Given the description of an element on the screen output the (x, y) to click on. 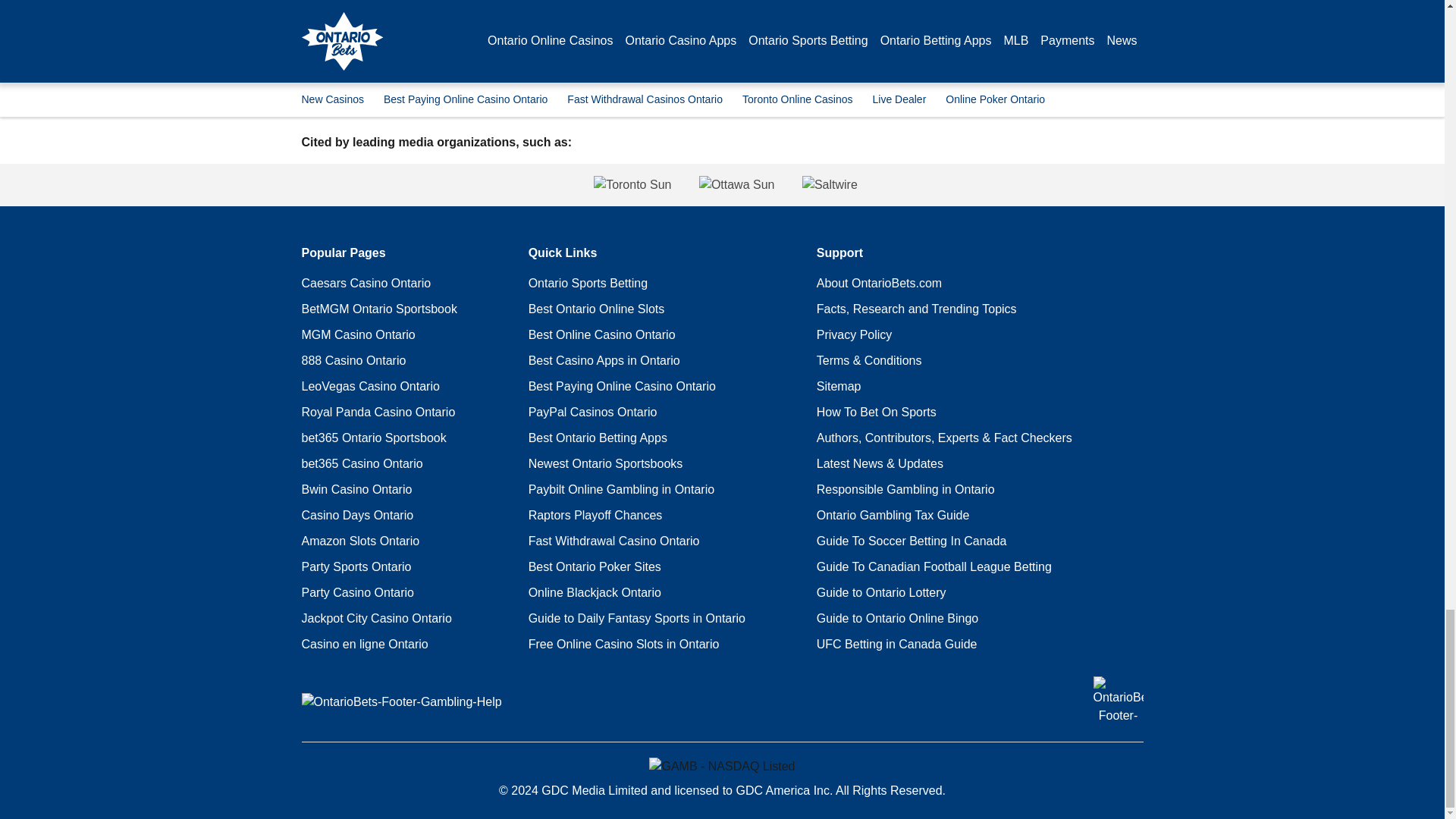
Saltwire (973, 185)
OntarioBets-Footer-Gambling-Help (401, 701)
Cecil Peters (386, 25)
OntarioBets-Footer-Minimum-Age (1117, 701)
Ottawa Sun (736, 185)
Toronto Sun (489, 185)
